Given the description of an element on the screen output the (x, y) to click on. 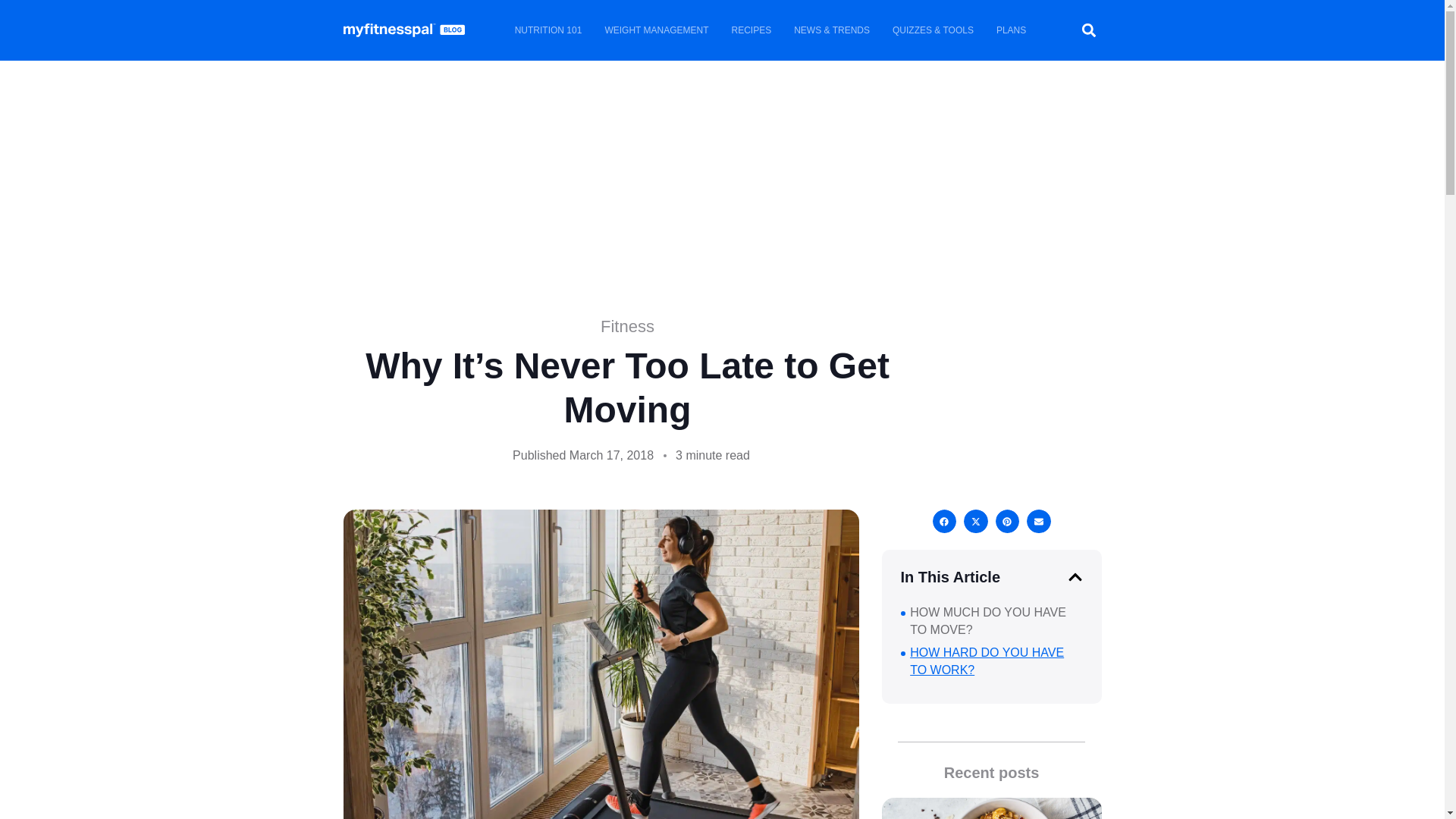
NUTRITION 101 (548, 30)
WEIGHT MANAGEMENT (655, 30)
RECIPES (751, 30)
